Given the description of an element on the screen output the (x, y) to click on. 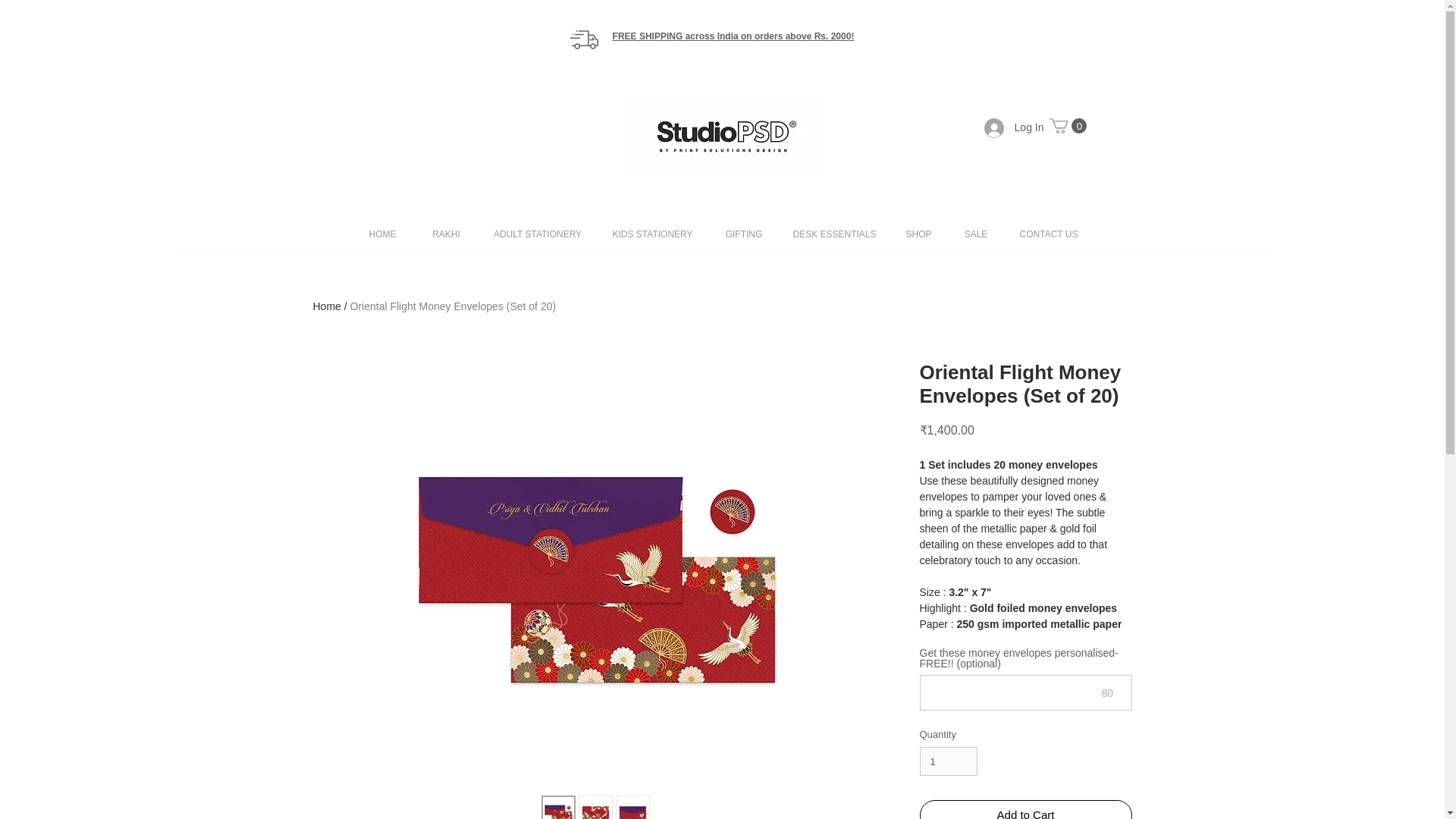
HOME (381, 234)
KIDS STATIONERY (651, 234)
0 (1067, 125)
Site Search (1003, 181)
RAKHI (445, 234)
0 (1067, 125)
DESK ESSENTIALS (833, 234)
GIFTING (743, 234)
FREE SHIPPING across India on orders above Rs. 2000! (733, 36)
1 (947, 760)
ADULT STATIONERY (536, 234)
Log In (1014, 127)
